Given the description of an element on the screen output the (x, y) to click on. 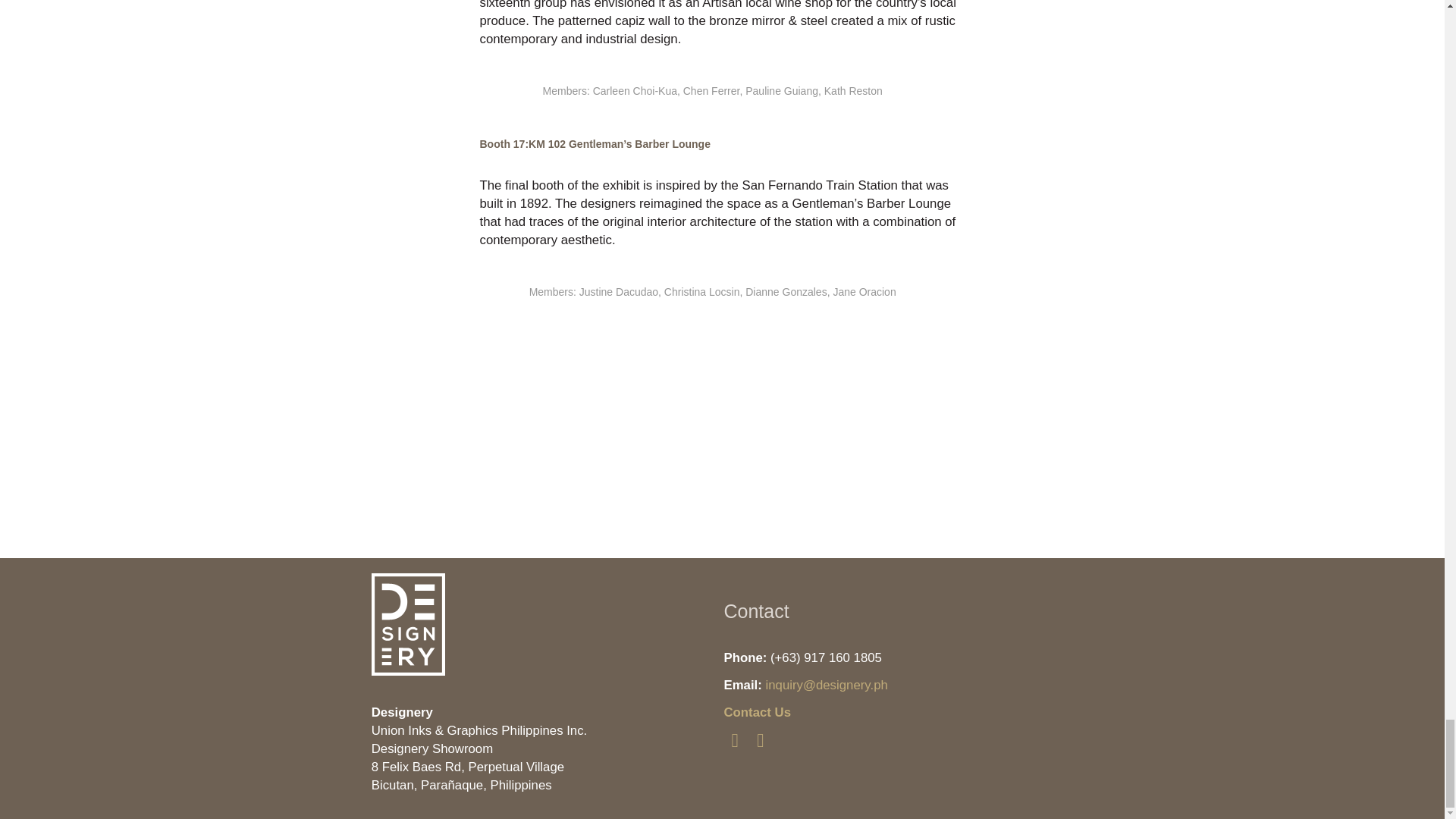
Contact Us (756, 712)
